Given the description of an element on the screen output the (x, y) to click on. 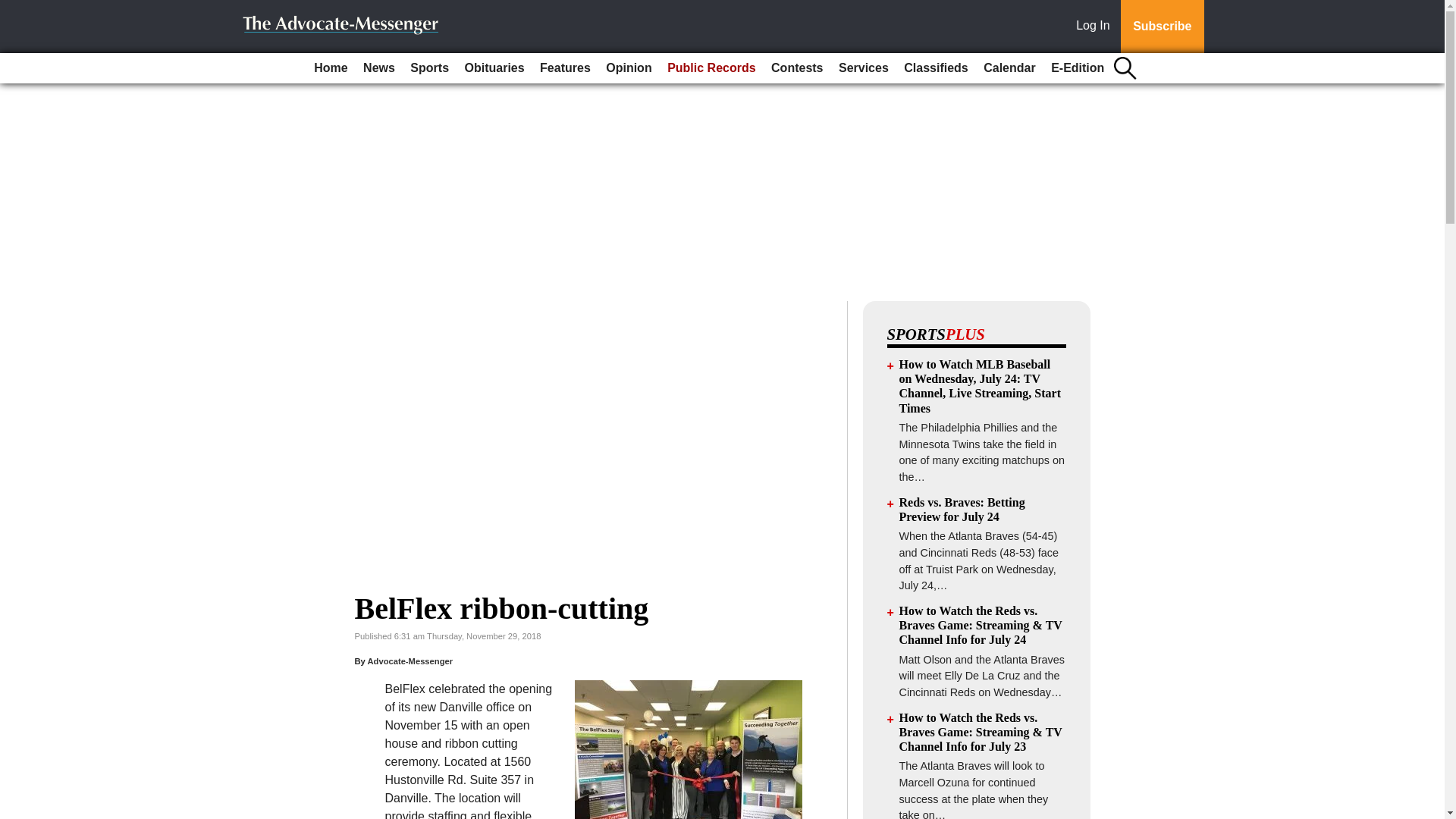
Features (565, 68)
Calendar (1008, 68)
Advocate-Messenger (409, 660)
Reds vs. Braves: Betting Preview for July 24 (962, 509)
Services (863, 68)
Public Records (711, 68)
Opinion (628, 68)
News (378, 68)
Subscribe (1162, 26)
Obituaries (493, 68)
Classifieds (936, 68)
Contests (796, 68)
Home (330, 68)
Go (13, 9)
